Given the description of an element on the screen output the (x, y) to click on. 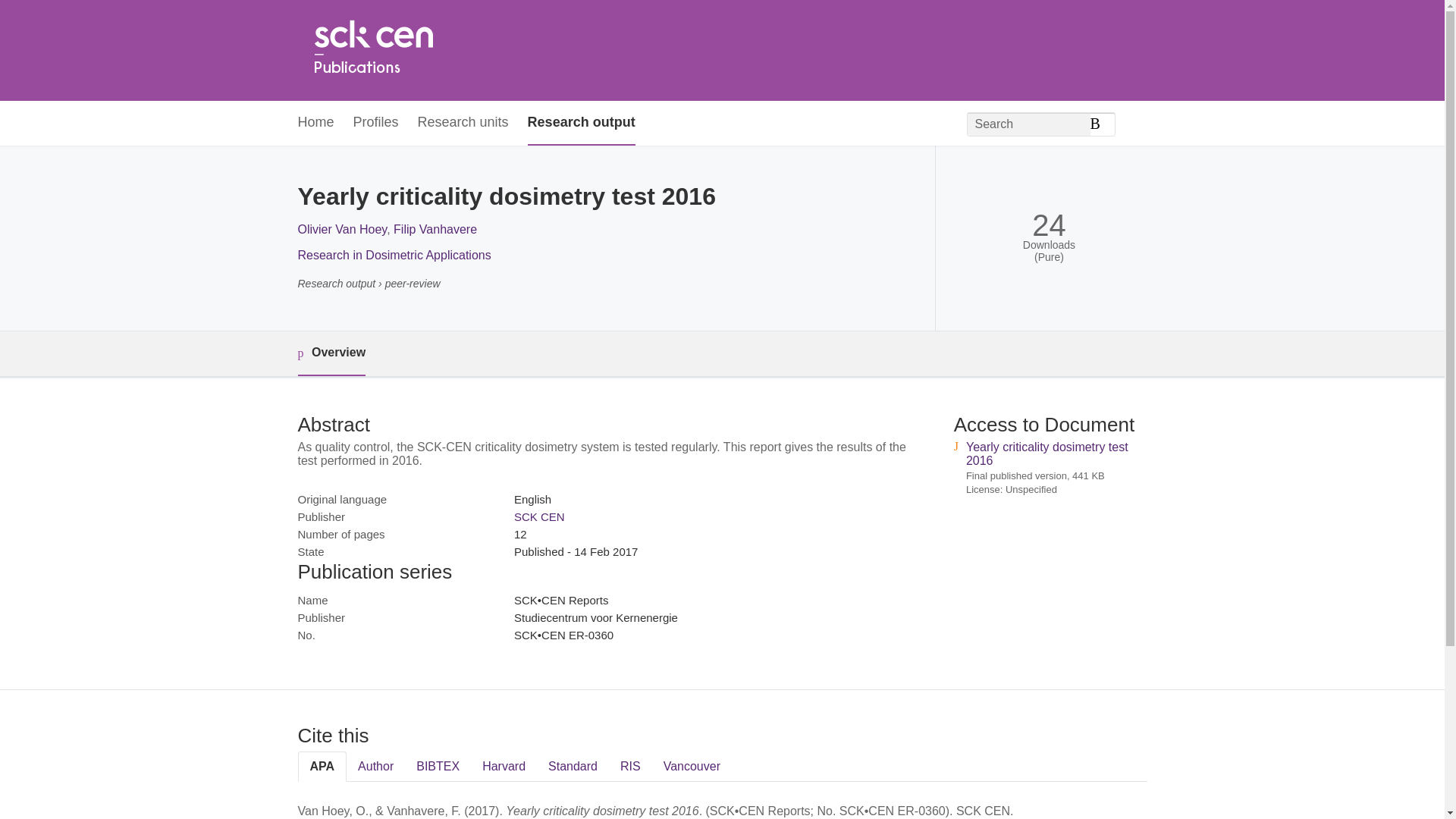
Research units (462, 122)
Olivier Van Hoey (342, 228)
Yearly criticality dosimetry test 2016 (1047, 453)
Profiles (375, 122)
Home (372, 50)
Research output (580, 122)
Overview (331, 353)
Research in Dosimetric Applications (393, 254)
SCK CEN (538, 516)
